Given the description of an element on the screen output the (x, y) to click on. 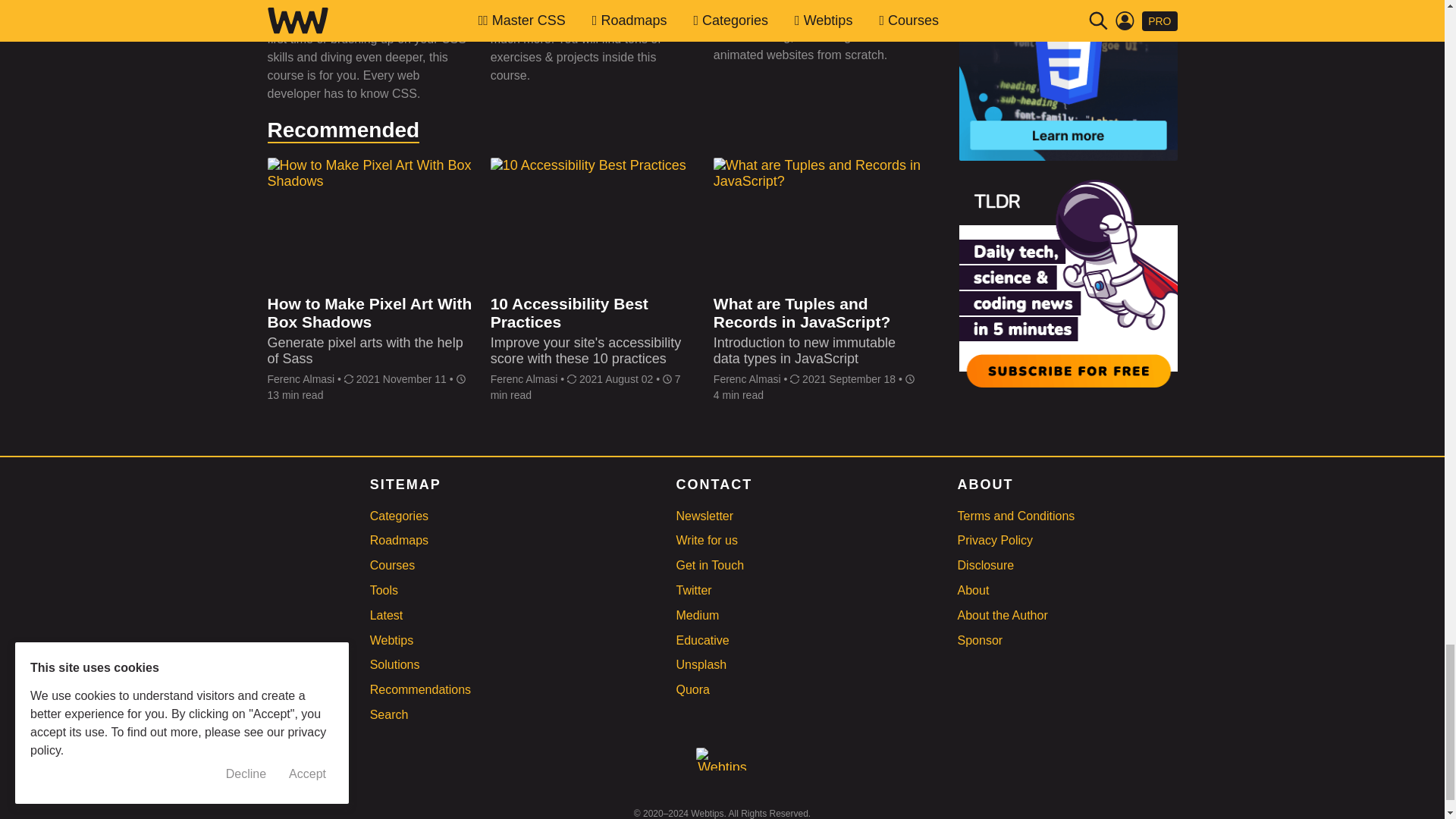
Roadmaps (398, 540)
Categories (398, 515)
Courses (391, 564)
Tools (383, 590)
